Given the description of an element on the screen output the (x, y) to click on. 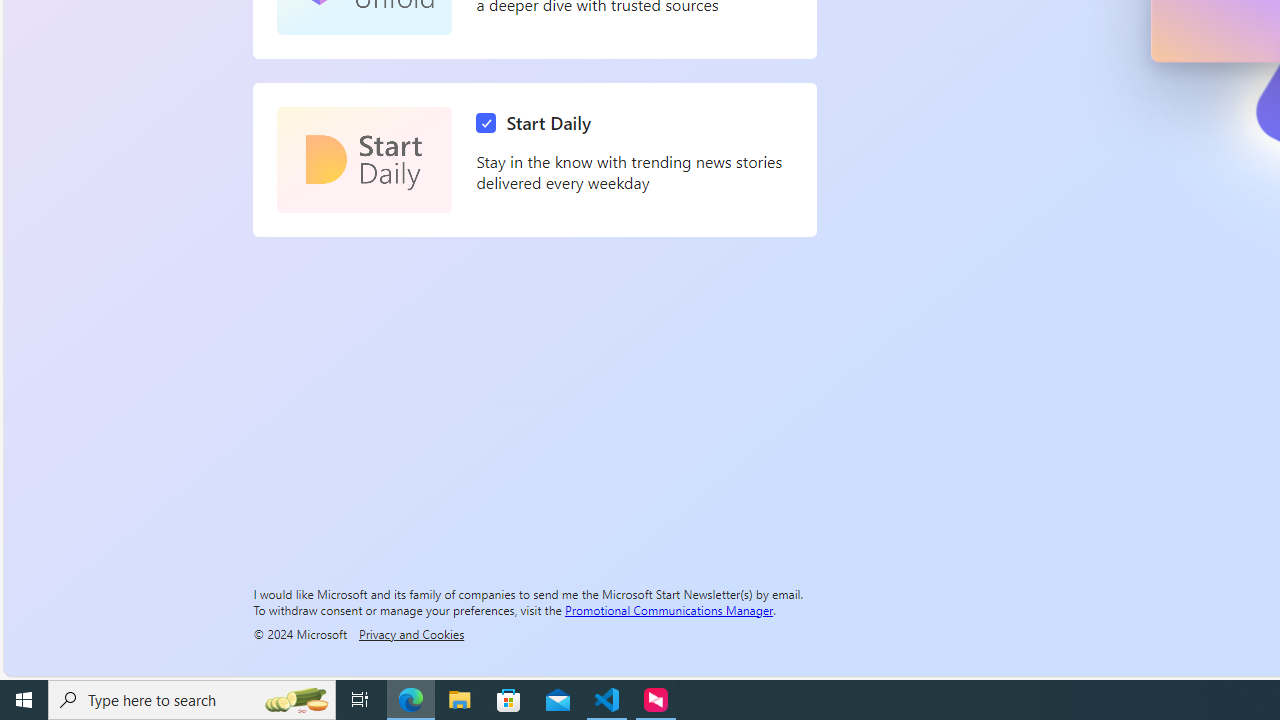
Start Daily (538, 123)
Start Daily (364, 160)
Promotional Communications Manager (669, 609)
Privacy and Cookies (411, 633)
